Given the description of an element on the screen output the (x, y) to click on. 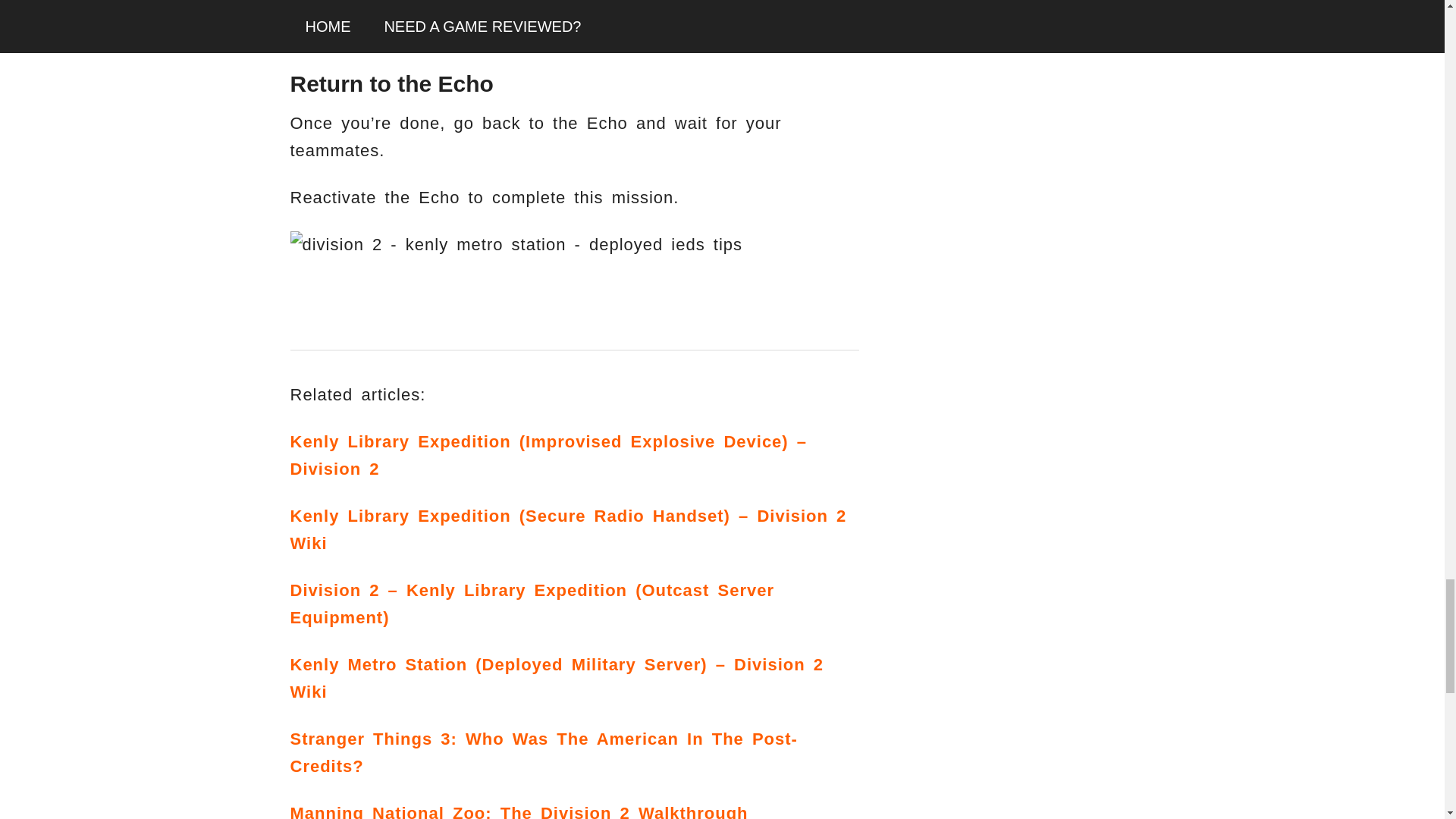
Manning National Zoo: The Division 2 Walkthrough (518, 811)
Stranger Things 3: Who Was The American In The Post-Credits? (542, 752)
